Given the description of an element on the screen output the (x, y) to click on. 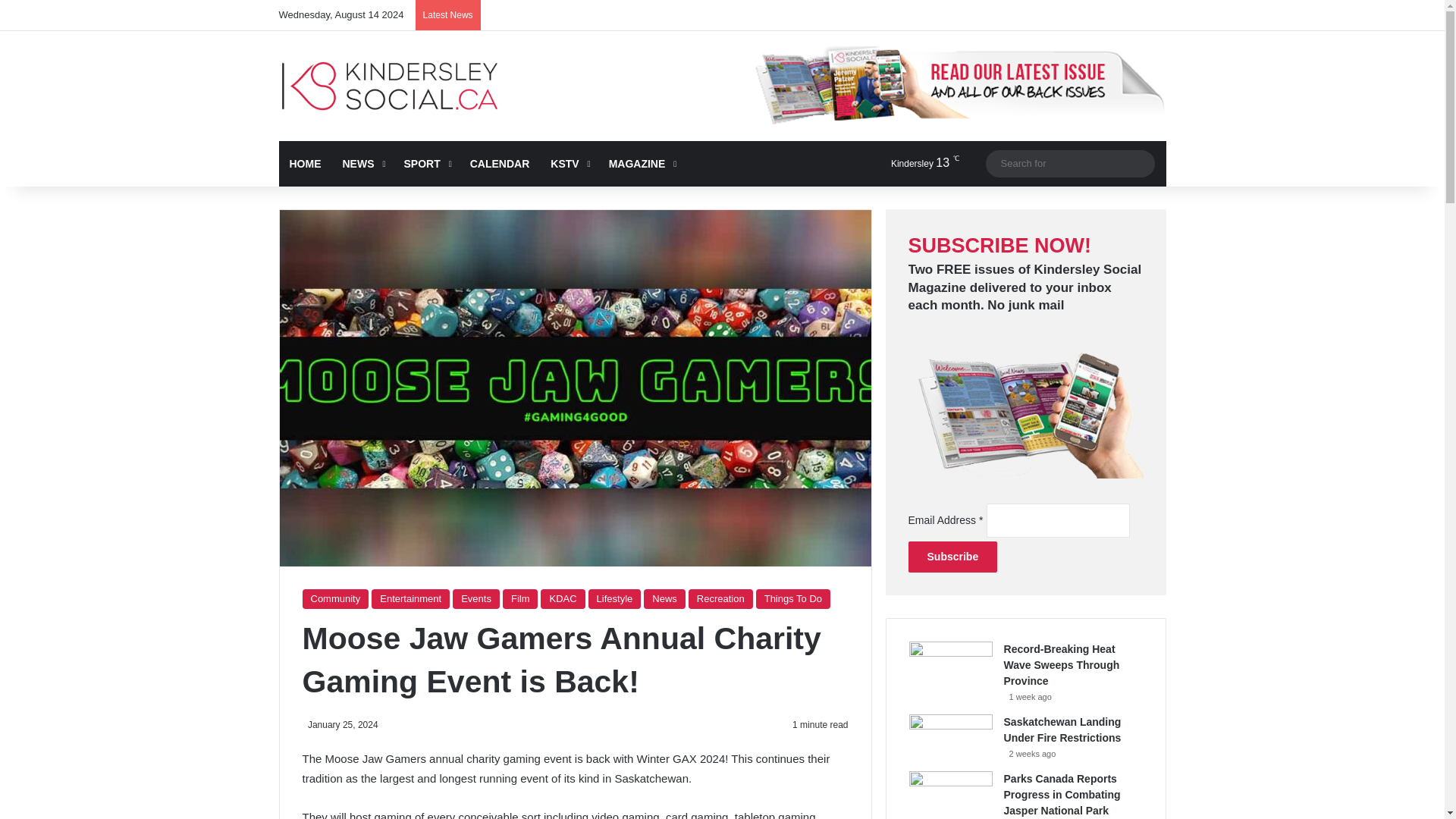
Subscribe (952, 556)
Kindersley Social - Local Update, Sports, Events and more (389, 85)
HOME (305, 163)
Clear Sky (911, 162)
Search for (1069, 162)
NEWS (362, 163)
SPORT (425, 163)
